Given the description of an element on the screen output the (x, y) to click on. 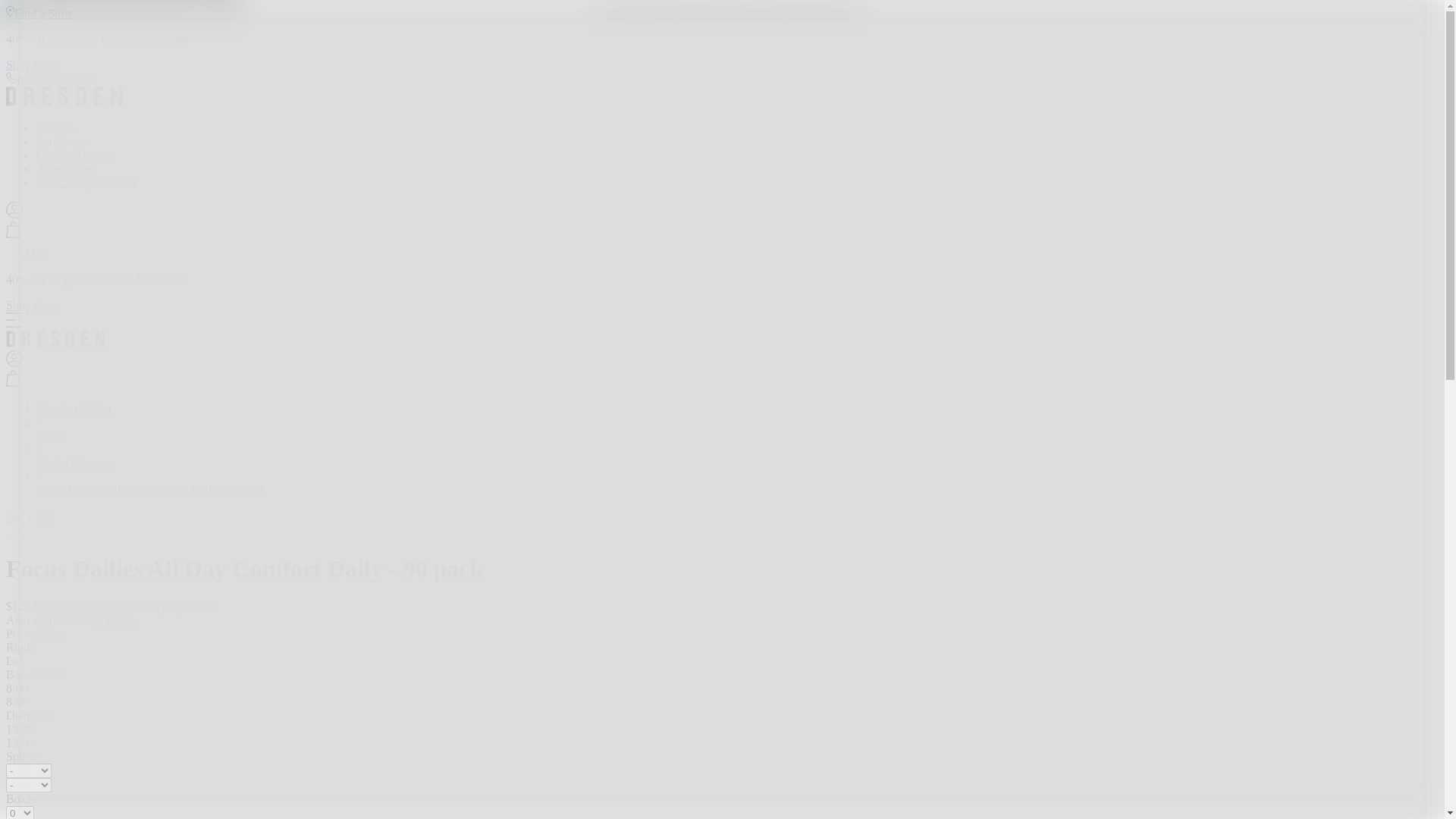
Dresden Vision (74, 408)
Shop Now (31, 305)
Book an optometrist (85, 182)
Shop Now (31, 64)
30 packs (111, 619)
Find a Store (39, 12)
Shop (48, 435)
Contact Lenses (73, 462)
